Given the description of an element on the screen output the (x, y) to click on. 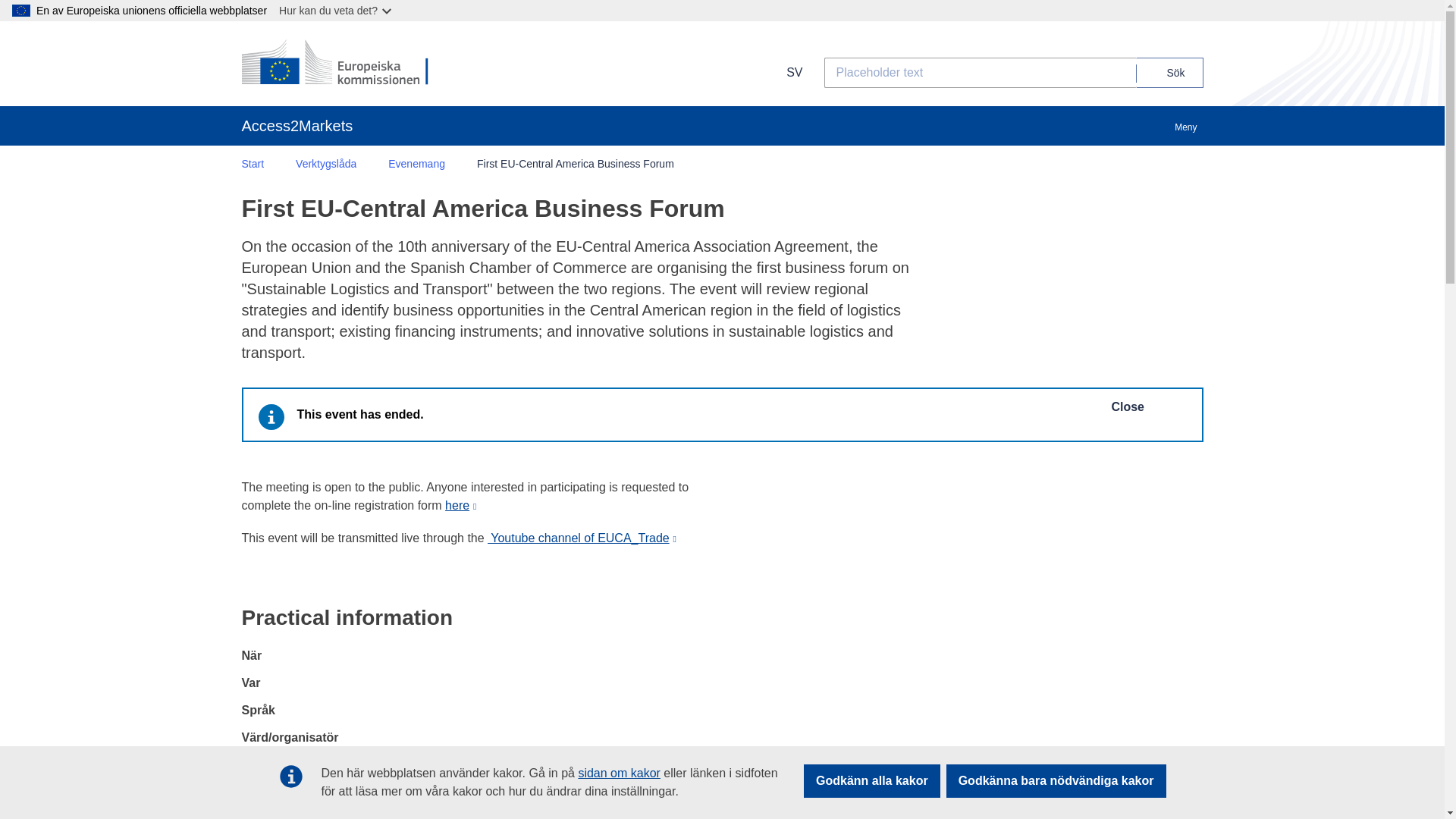
Hur kan du veta det? (335, 10)
Meny (1185, 119)
SV (784, 72)
Europeiska kommissionen (338, 63)
sidan om kakor (619, 772)
European Commission (338, 63)
